Given the description of an element on the screen output the (x, y) to click on. 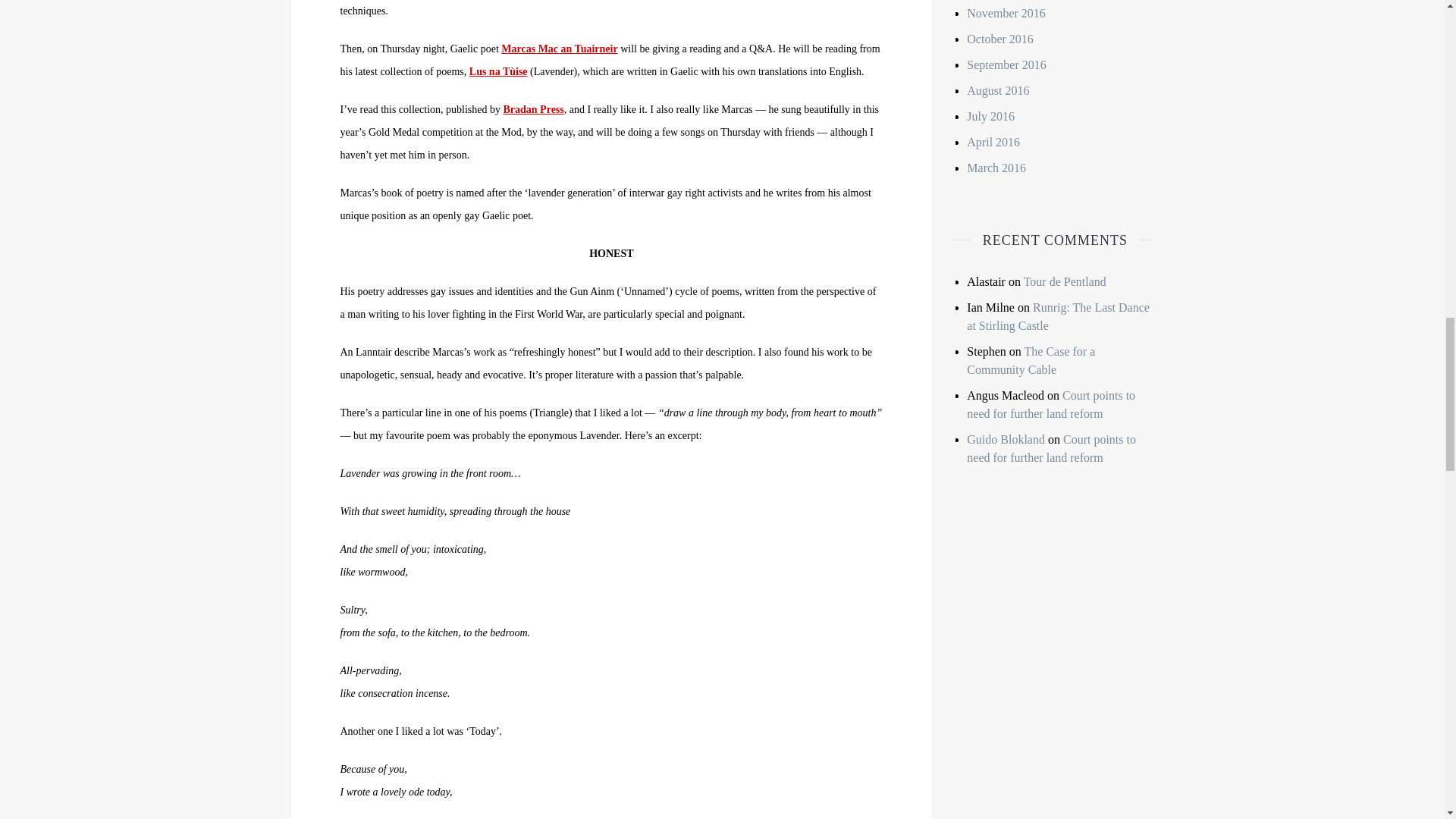
Bradan Press (533, 109)
Marcas Mac an Tuairneir (558, 48)
